Given the description of an element on the screen output the (x, y) to click on. 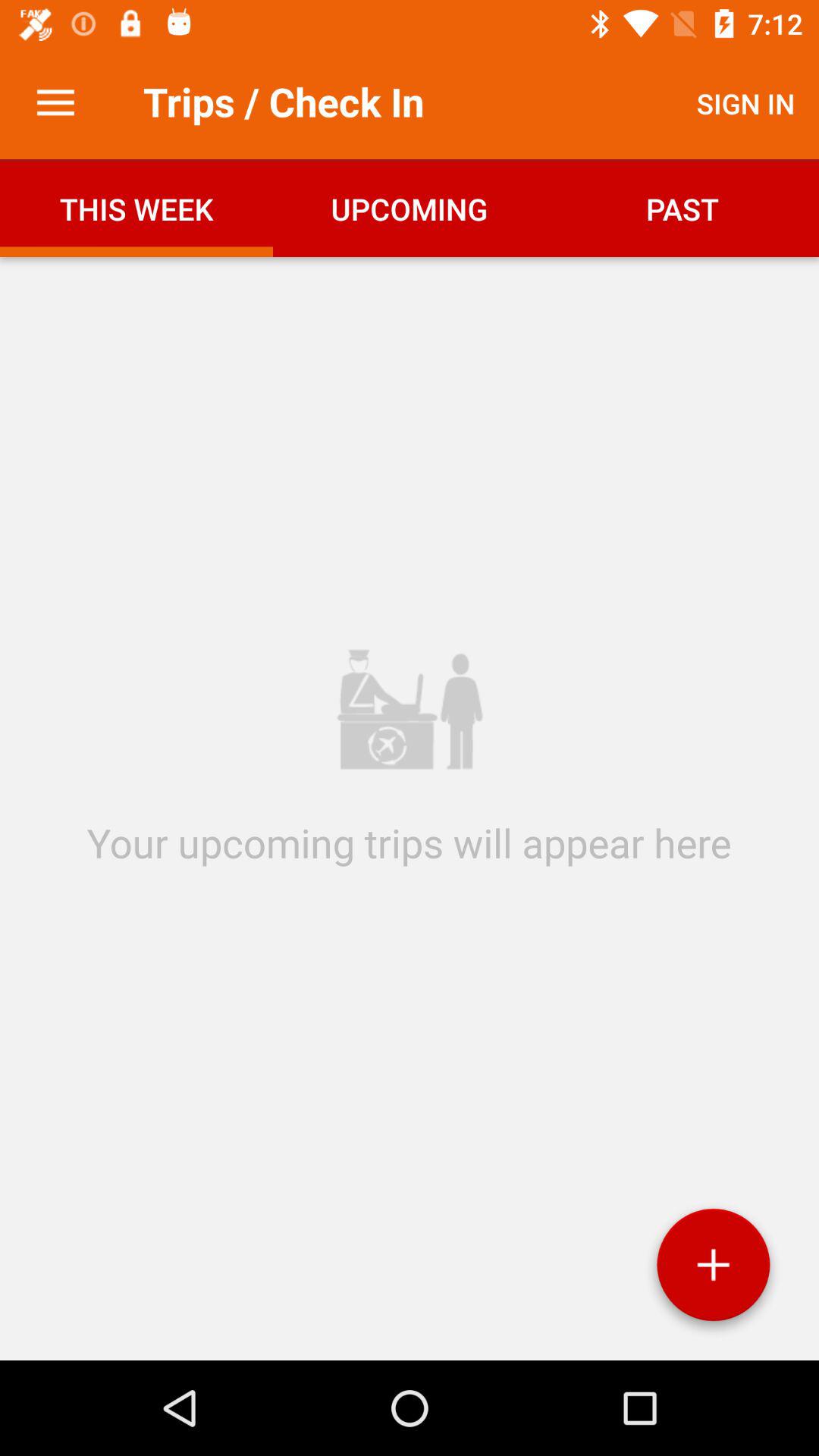
choose the item at the bottom right corner (713, 1270)
